Given the description of an element on the screen output the (x, y) to click on. 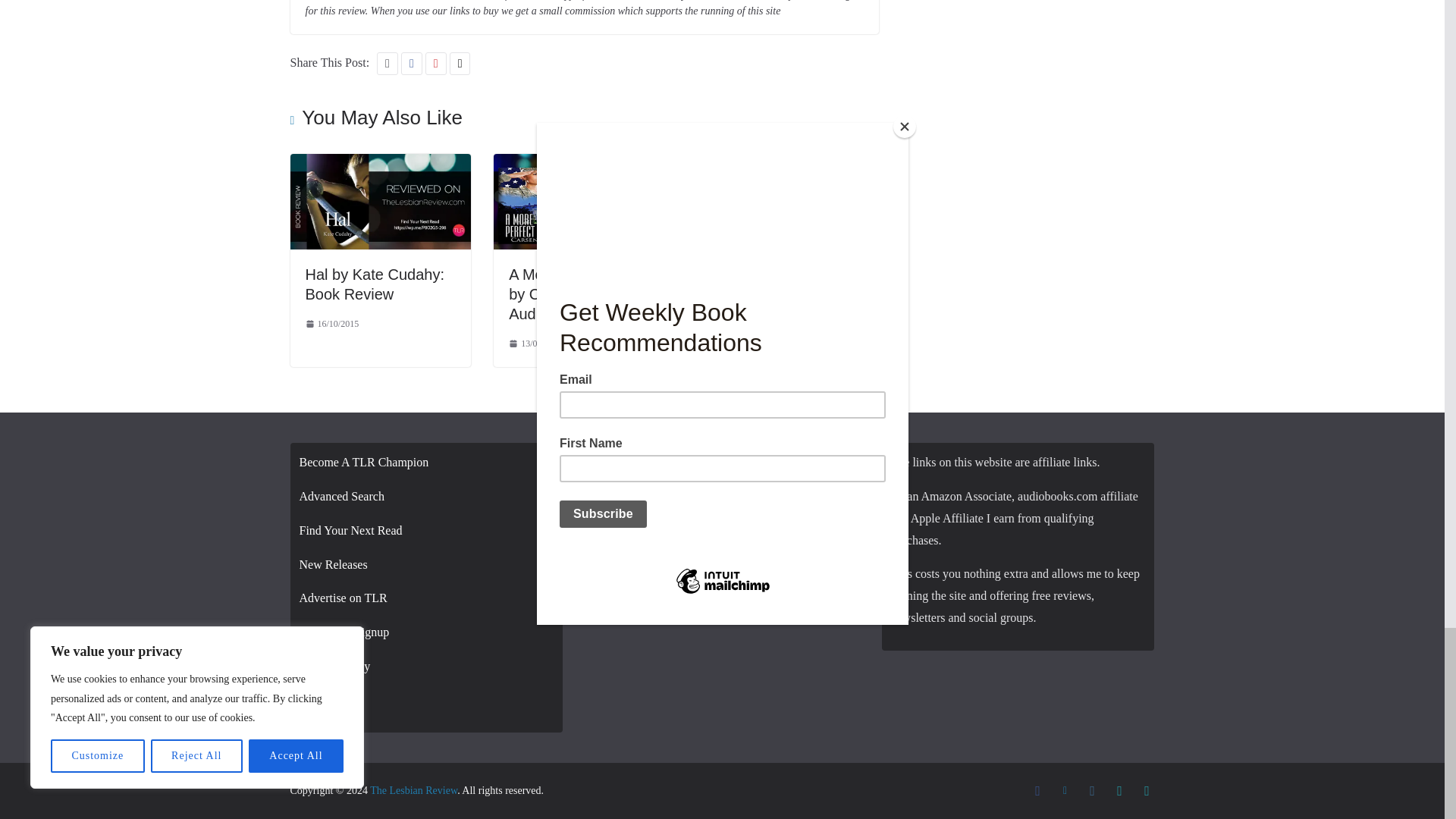
A More Perfect Union by Carsen Taite: Audiobook Review (584, 164)
12:00 am (535, 343)
Hal by Kate Cudahy: Book Review (374, 284)
12:00 am (331, 324)
Hal by Kate Cudahy: Book Review (379, 164)
A More Perfect Union by Carsen Taite: Audiobook Review (580, 294)
